Given the description of an element on the screen output the (x, y) to click on. 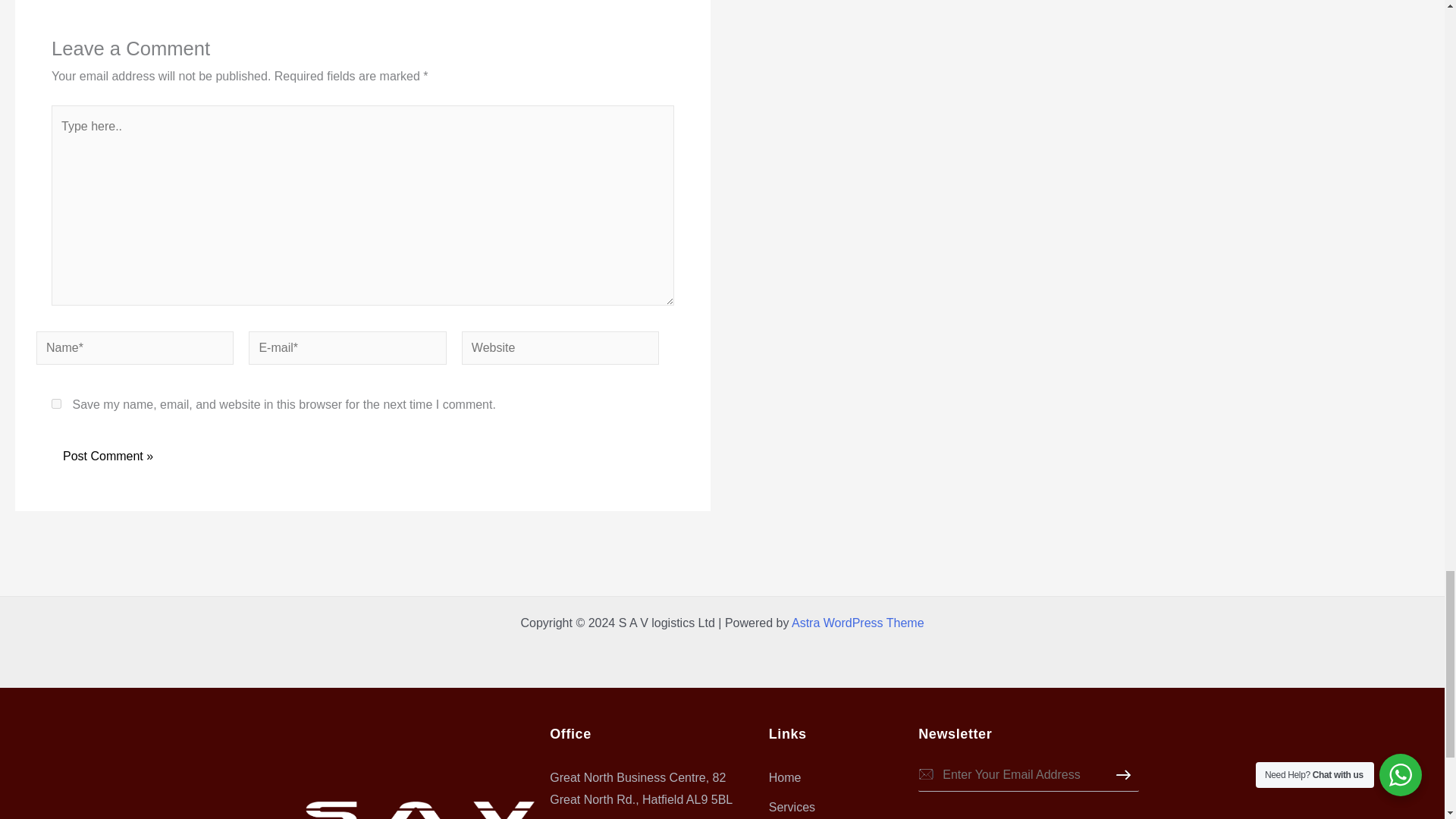
yes (55, 403)
Submit (1138, 794)
